Given the description of an element on the screen output the (x, y) to click on. 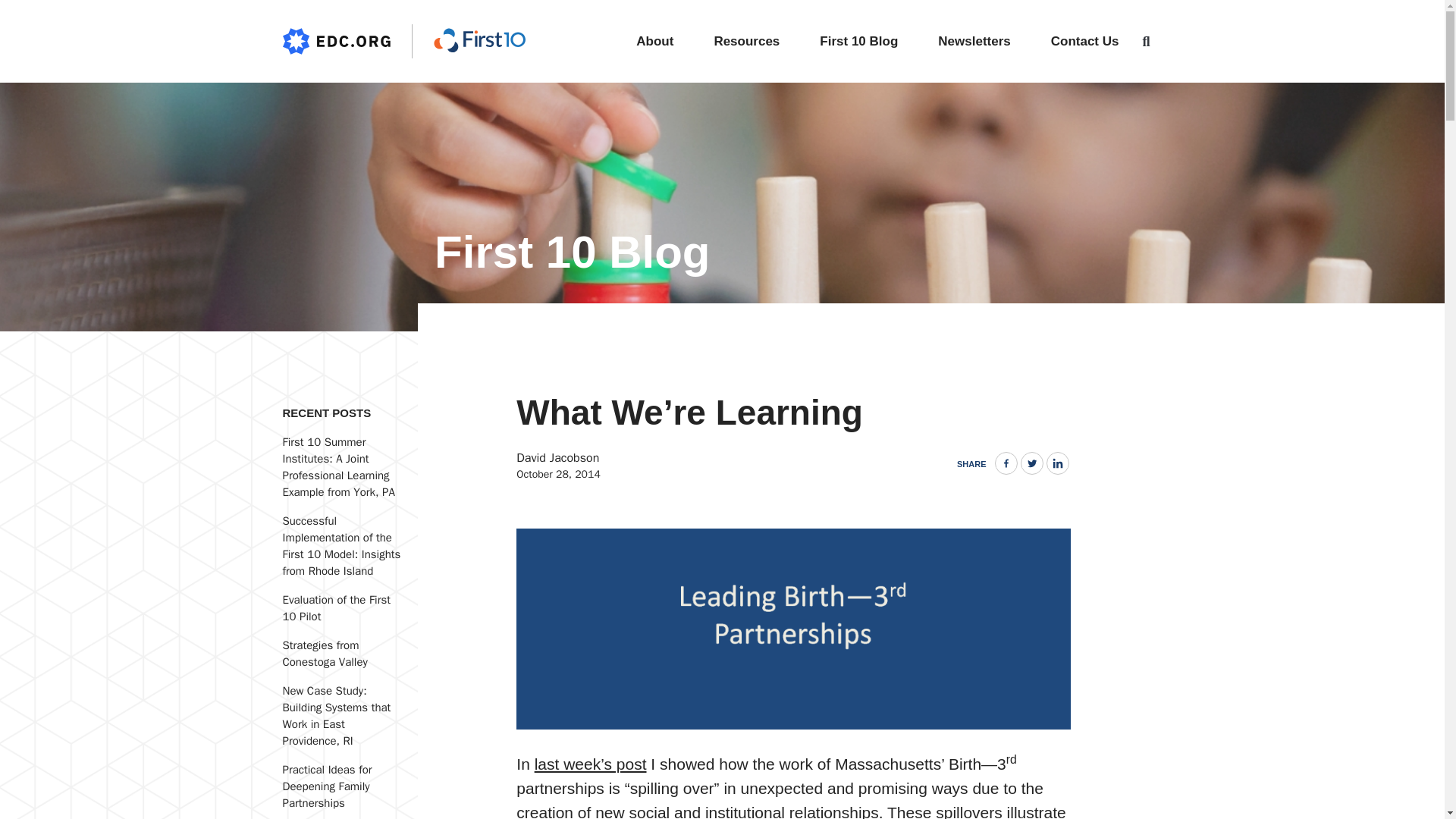
Facebook (1005, 463)
Evaluation of the First 10 Pilot (336, 607)
Strategies from Conestoga Valley (324, 653)
Linkedin (1057, 463)
Relationships, Capacity, and Innovation (590, 764)
Practical Ideas for Deepening Family Partnerships (326, 785)
Twitter (1031, 463)
